Given the description of an element on the screen output the (x, y) to click on. 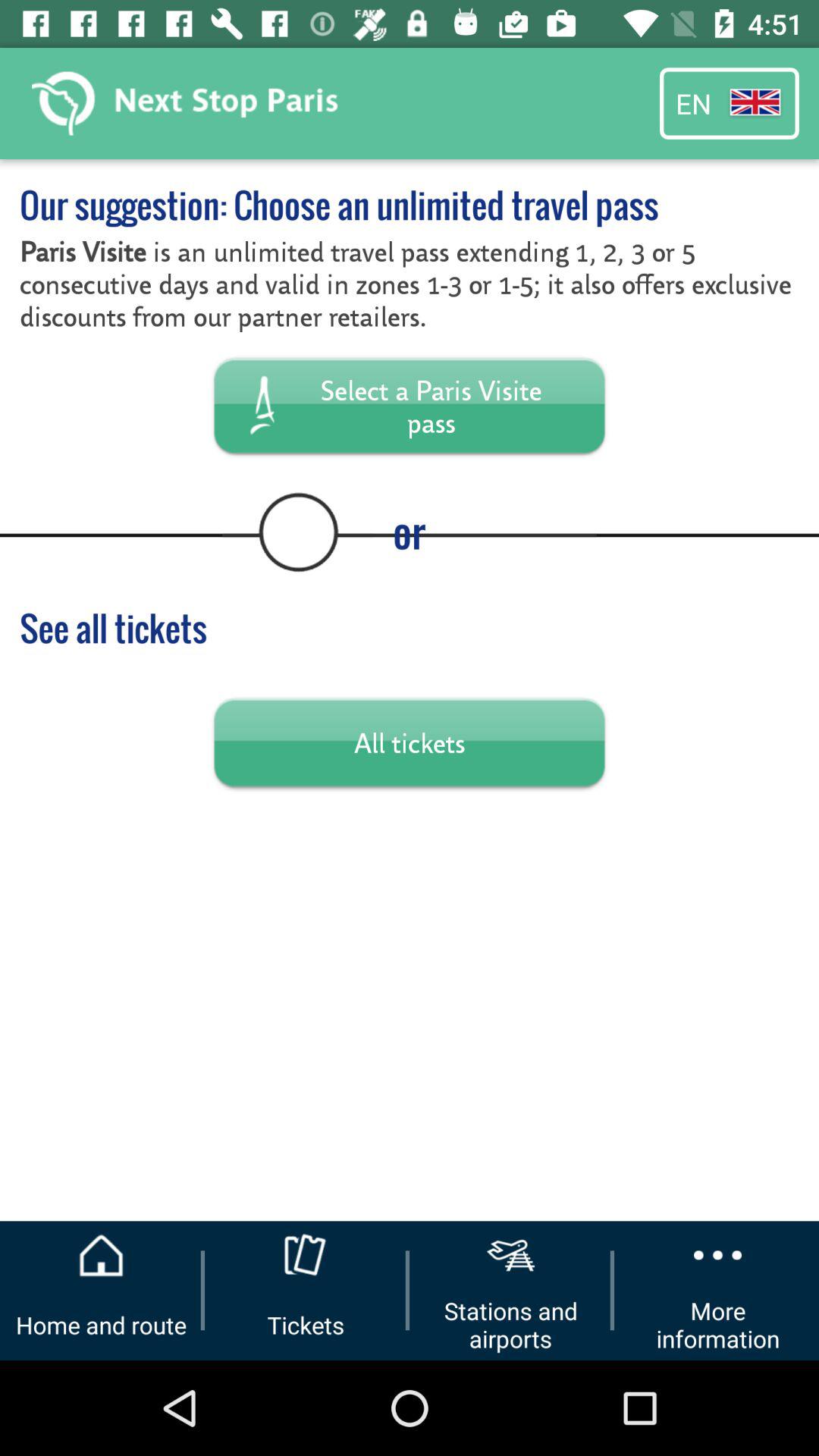
press the icon below paris visite is icon (409, 405)
